Given the description of an element on the screen output the (x, y) to click on. 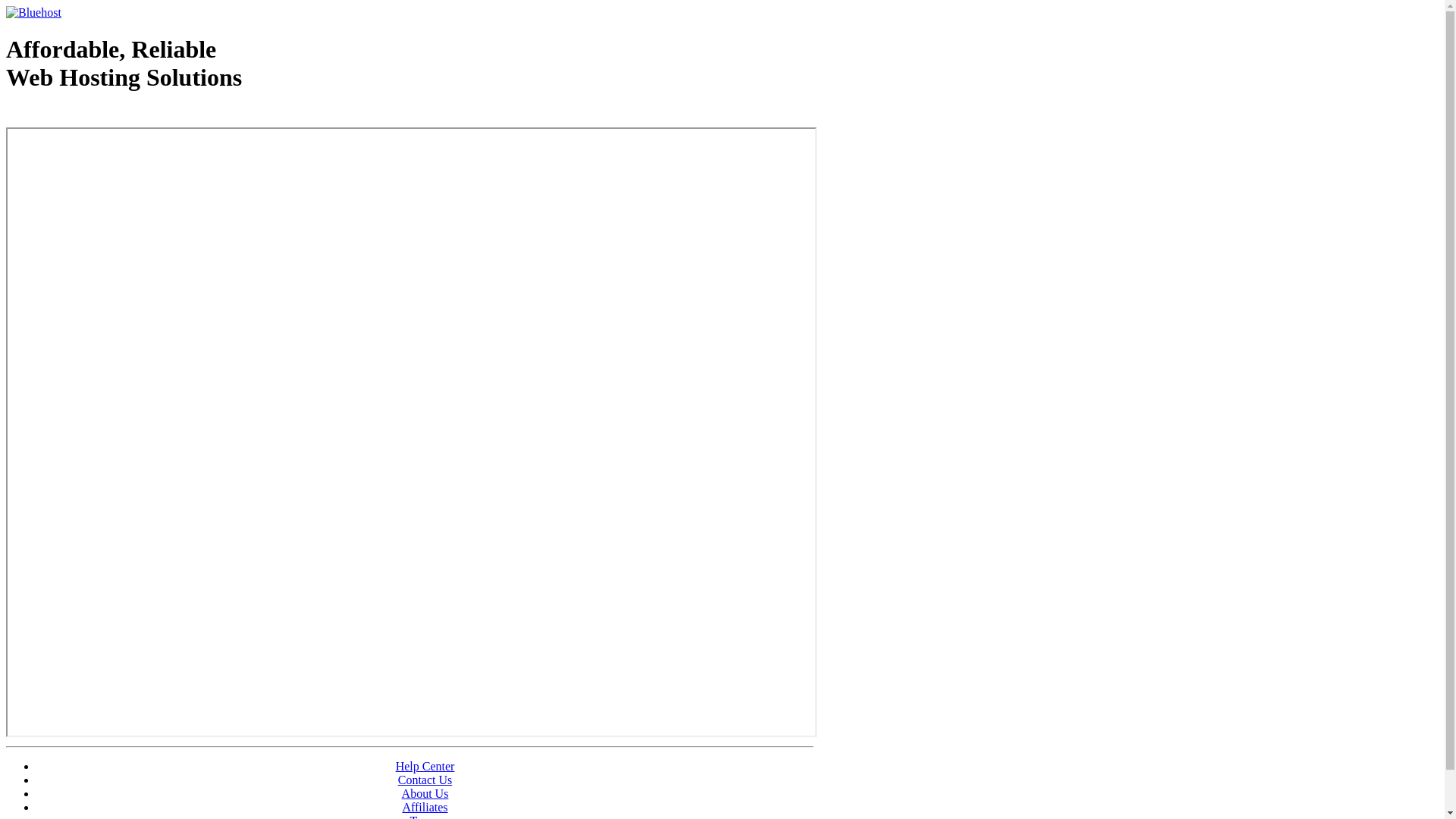
Help Center Element type: text (425, 765)
Web Hosting - courtesy of www.bluehost.com Element type: text (94, 115)
Affiliates Element type: text (424, 806)
About Us Element type: text (424, 793)
Contact Us Element type: text (425, 779)
